Given the description of an element on the screen output the (x, y) to click on. 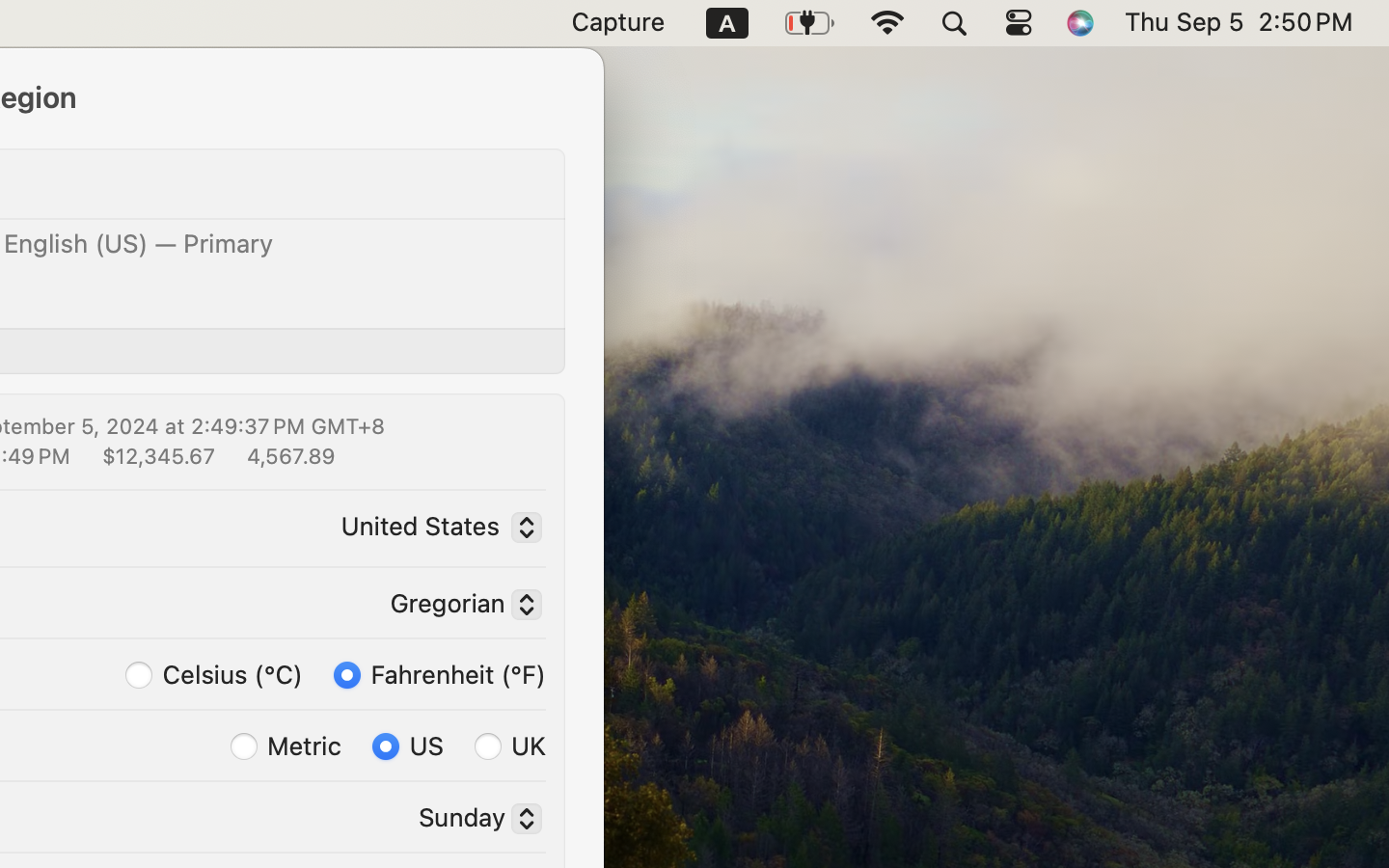
4,567.89 Element type: AXStaticText (289, 454)
English (US) — Primary Element type: AXStaticText (138, 242)
Sunday Element type: AXPopUpButton (472, 820)
United States Element type: AXPopUpButton (435, 529)
1 Element type: AXRadioButton (439, 672)
